Given the description of an element on the screen output the (x, y) to click on. 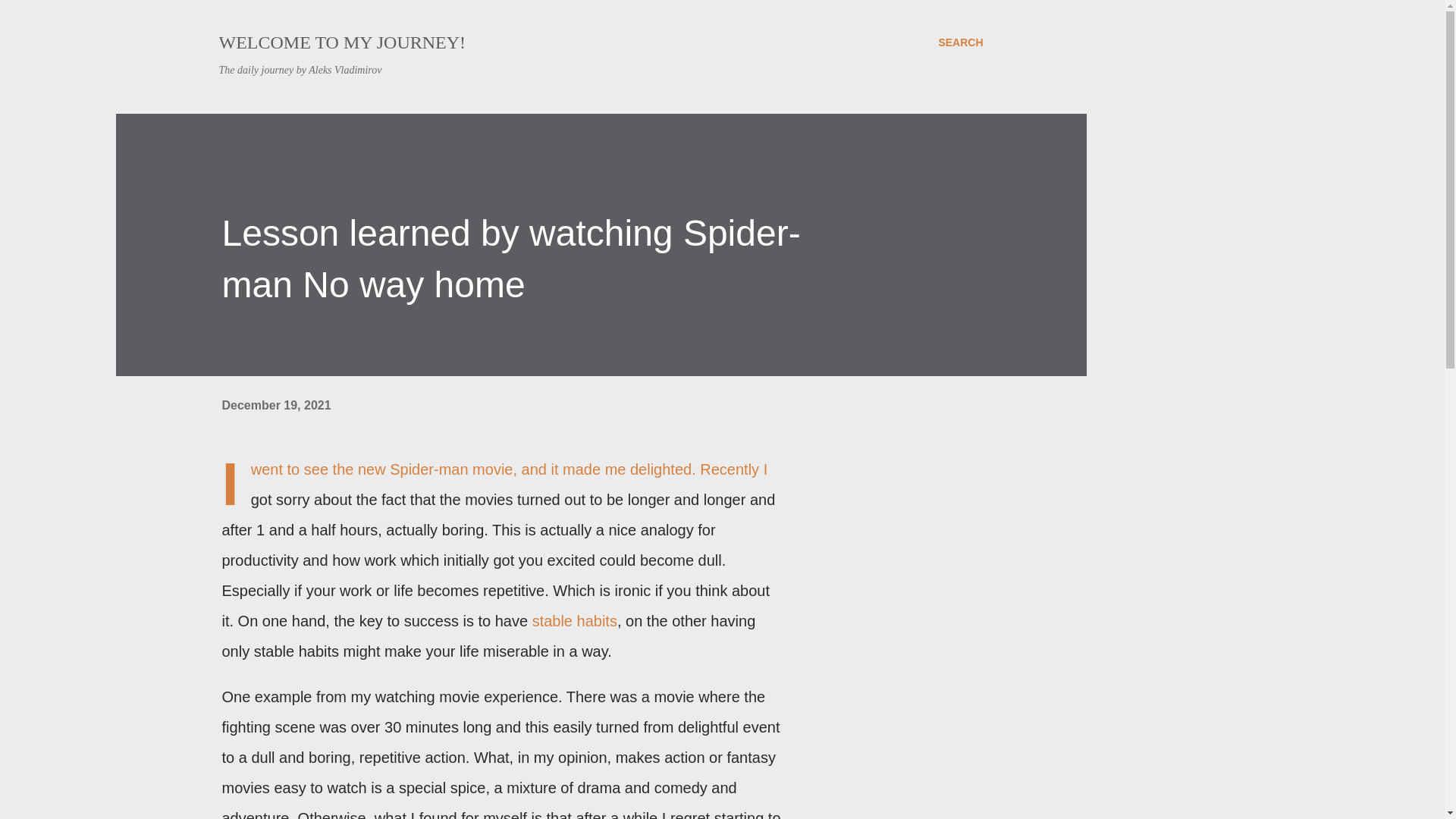
stable habits (574, 620)
permanent link (275, 404)
SEARCH (959, 42)
WELCOME TO MY JOURNEY! (341, 42)
December 19, 2021 (275, 404)
